Given the description of an element on the screen output the (x, y) to click on. 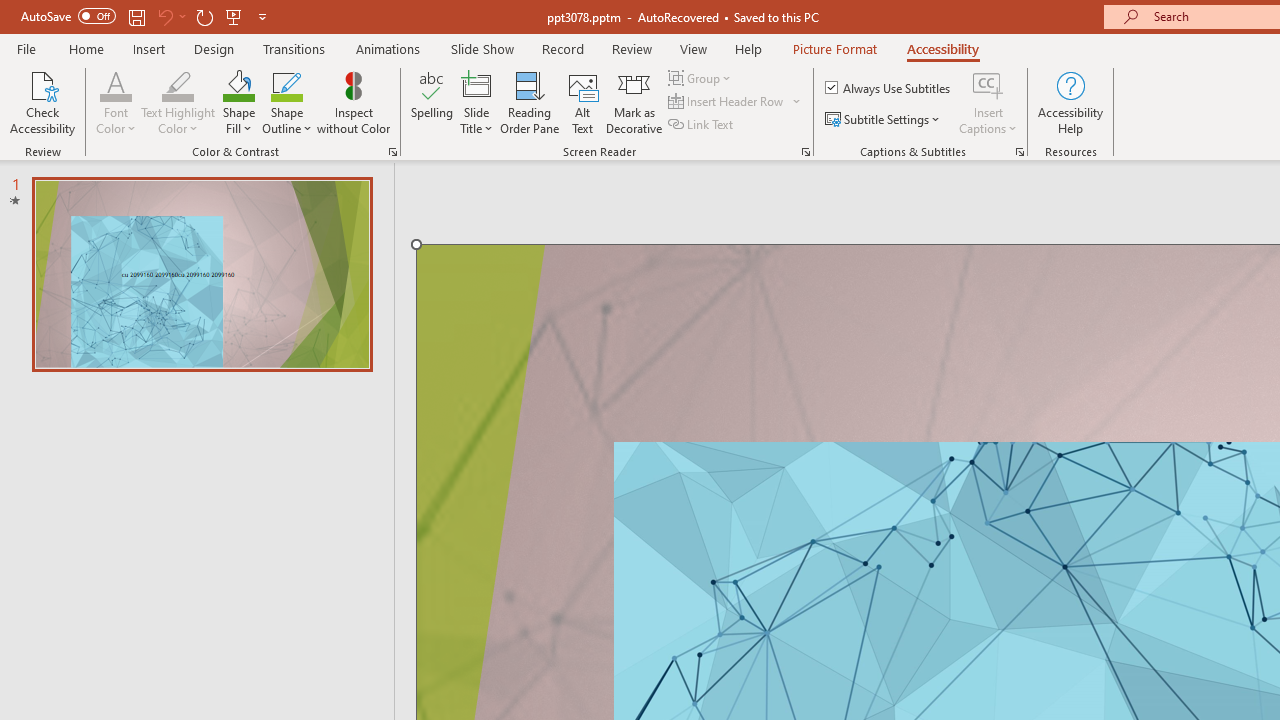
Screen Reader (805, 151)
Insert Header Row (727, 101)
Insert Header Row (735, 101)
Subtitle Settings (884, 119)
